Given the description of an element on the screen output the (x, y) to click on. 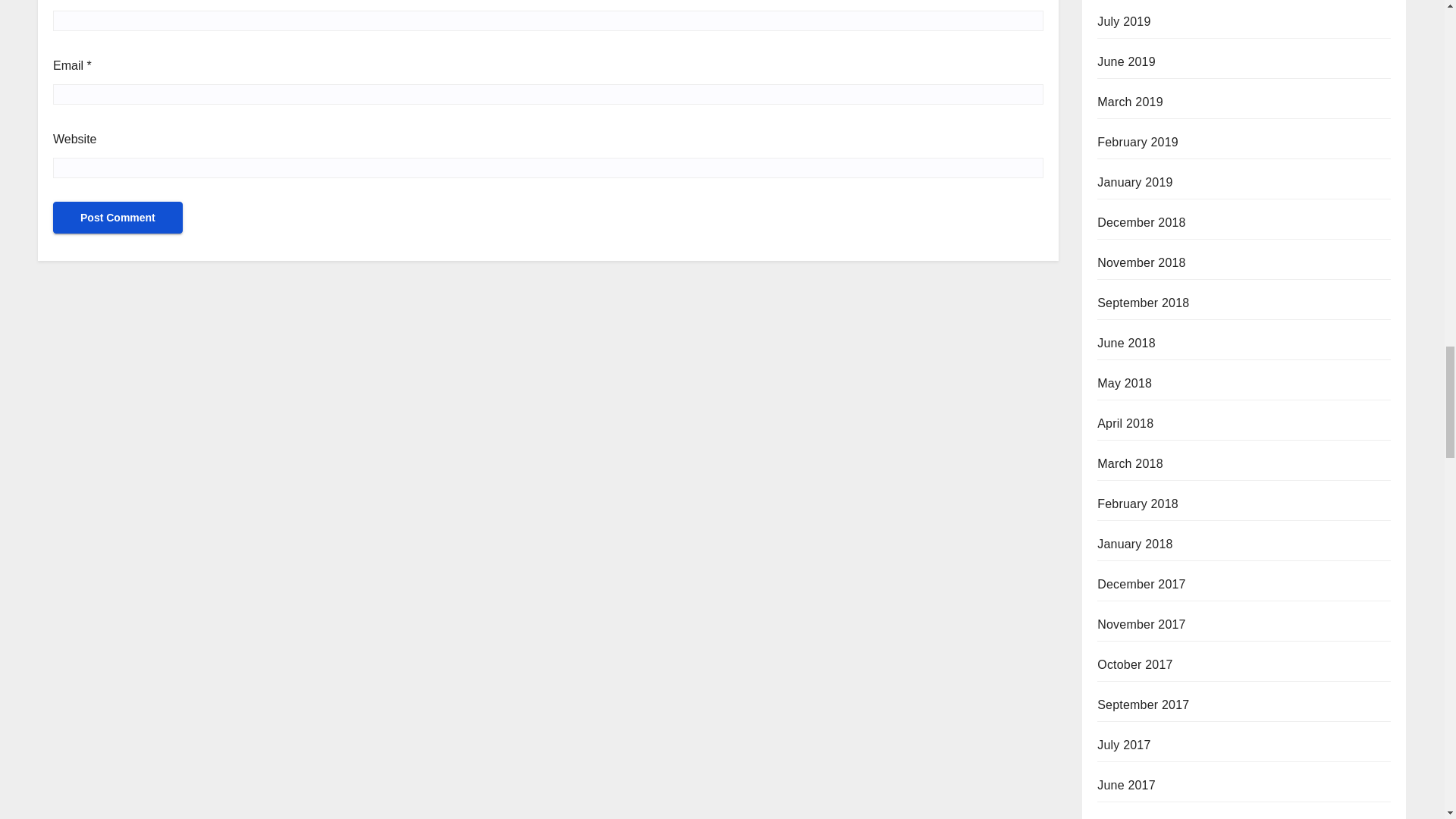
Post Comment (117, 217)
